Given the description of an element on the screen output the (x, y) to click on. 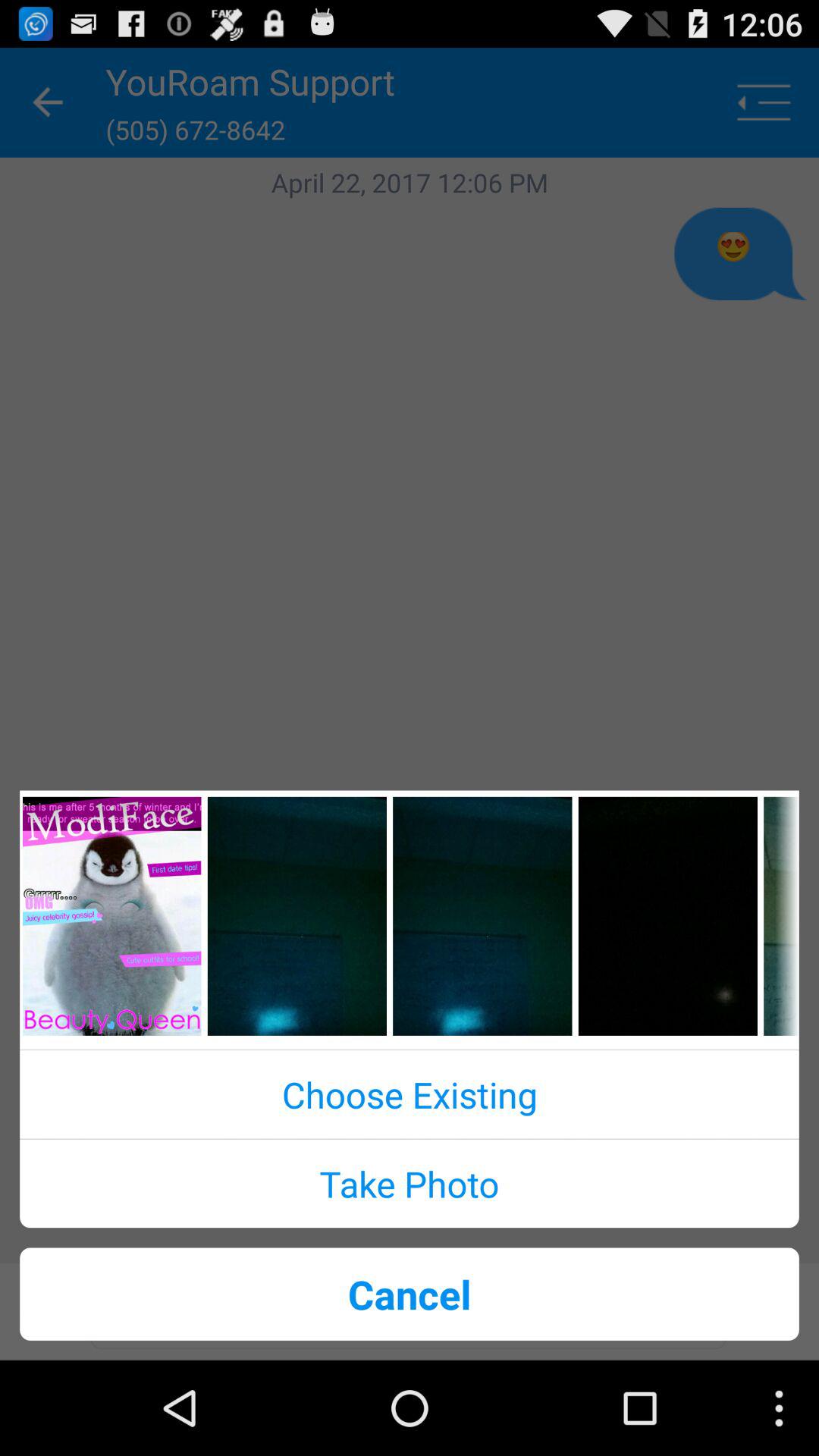
open photo (482, 915)
